Given the description of an element on the screen output the (x, y) to click on. 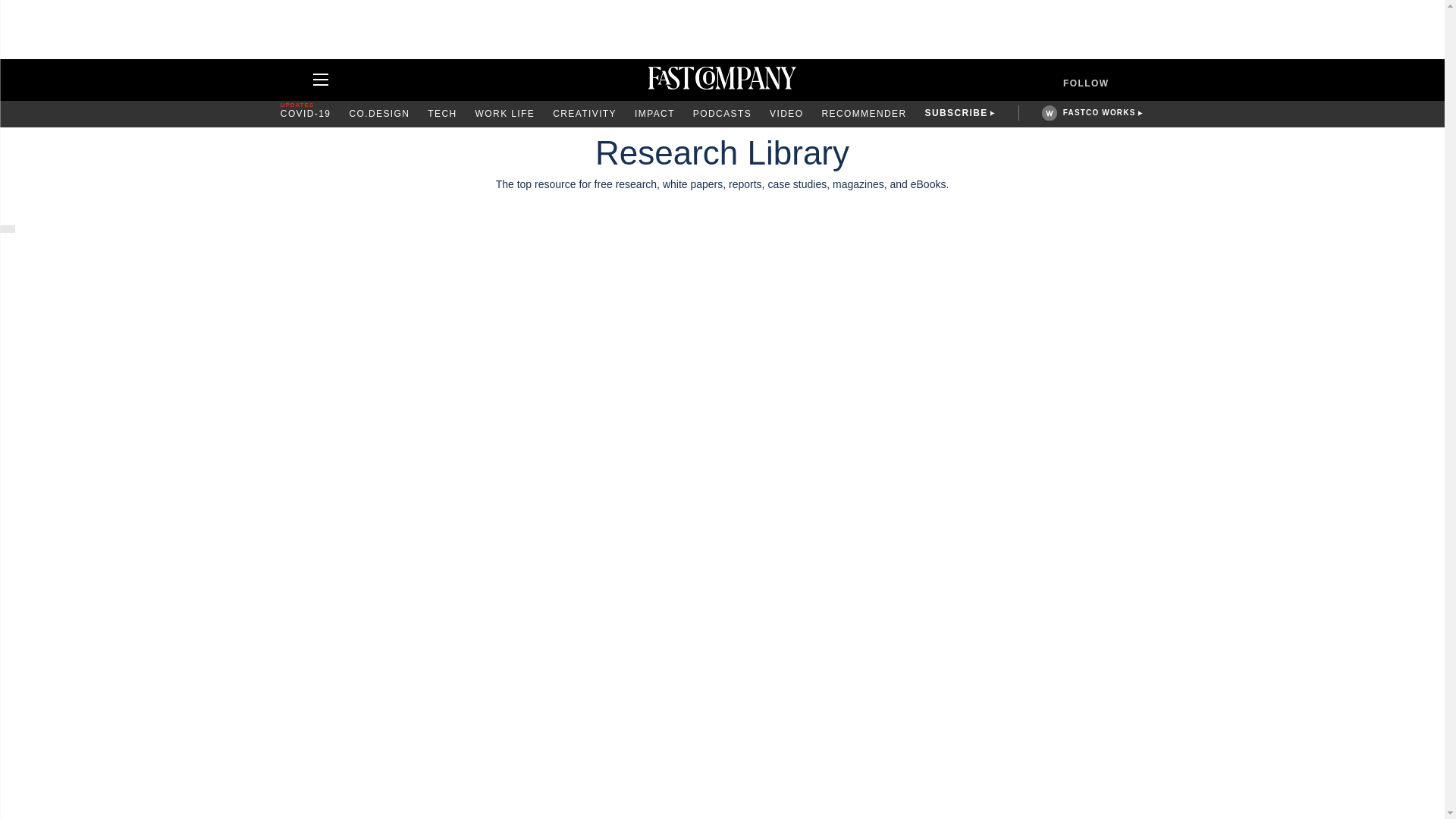
Video (786, 113)
Work Life (505, 113)
Podcasts (722, 113)
COVID-19 (306, 113)
FASTCO WORKS (1098, 112)
WORK LIFE (505, 113)
RECOMMENDER (863, 113)
IMPACT (654, 113)
Co.Design (379, 113)
CREATIVITY (584, 113)
